Given the description of an element on the screen output the (x, y) to click on. 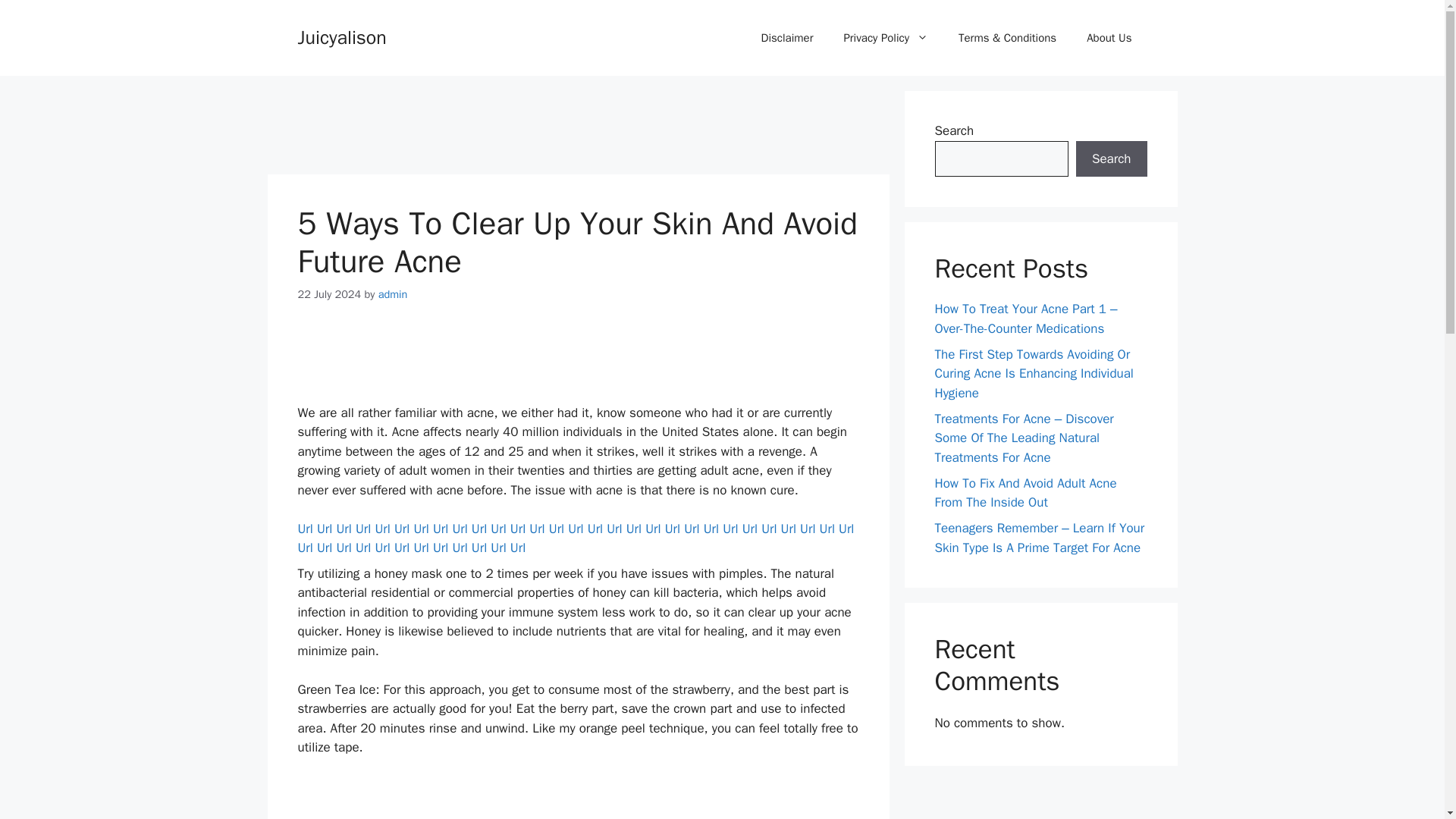
Url (749, 528)
Url (497, 528)
Url (768, 528)
Url (711, 528)
Url (382, 528)
Url (478, 528)
About Us (1109, 37)
Url (730, 528)
Juicyalison (341, 37)
Url (826, 528)
Url (845, 528)
View all posts by admin (392, 294)
Url (440, 528)
Url (788, 528)
Url (518, 528)
